Given the description of an element on the screen output the (x, y) to click on. 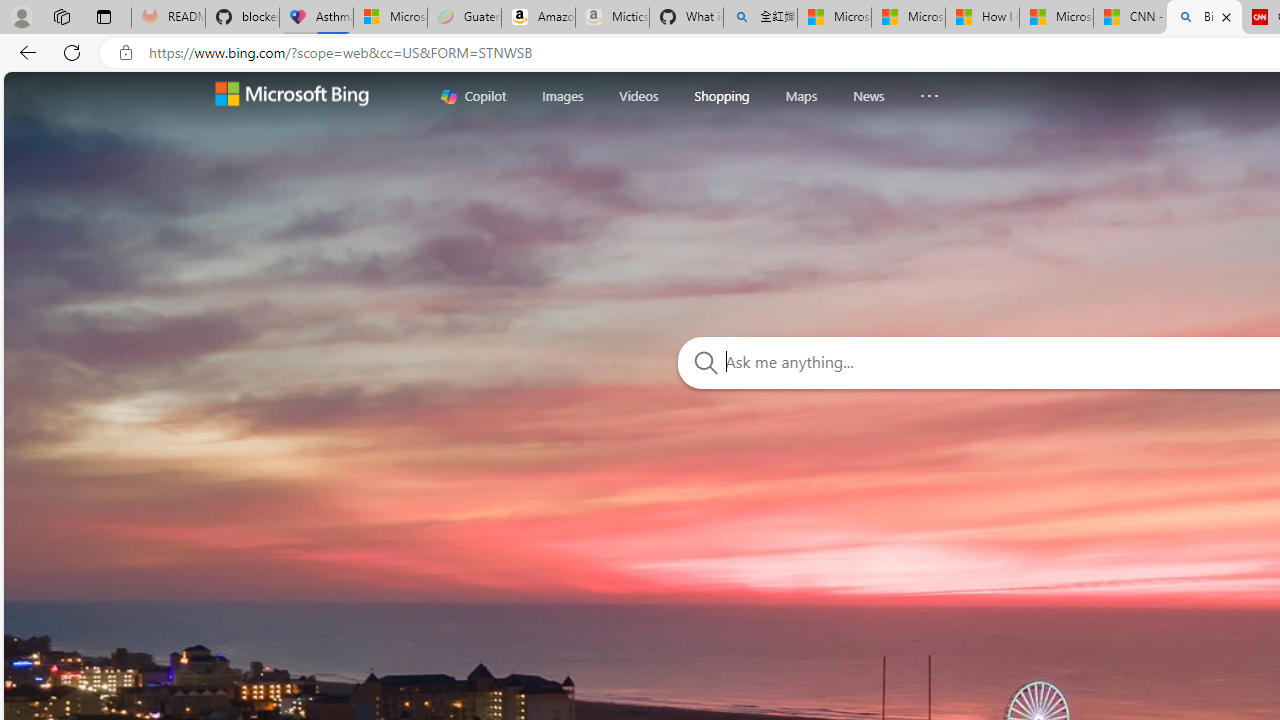
Maps (800, 95)
CNN - MSN (1130, 17)
Maps (800, 95)
Images (562, 95)
Class: scopes  (707, 95)
Videos (639, 95)
